Given the description of an element on the screen output the (x, y) to click on. 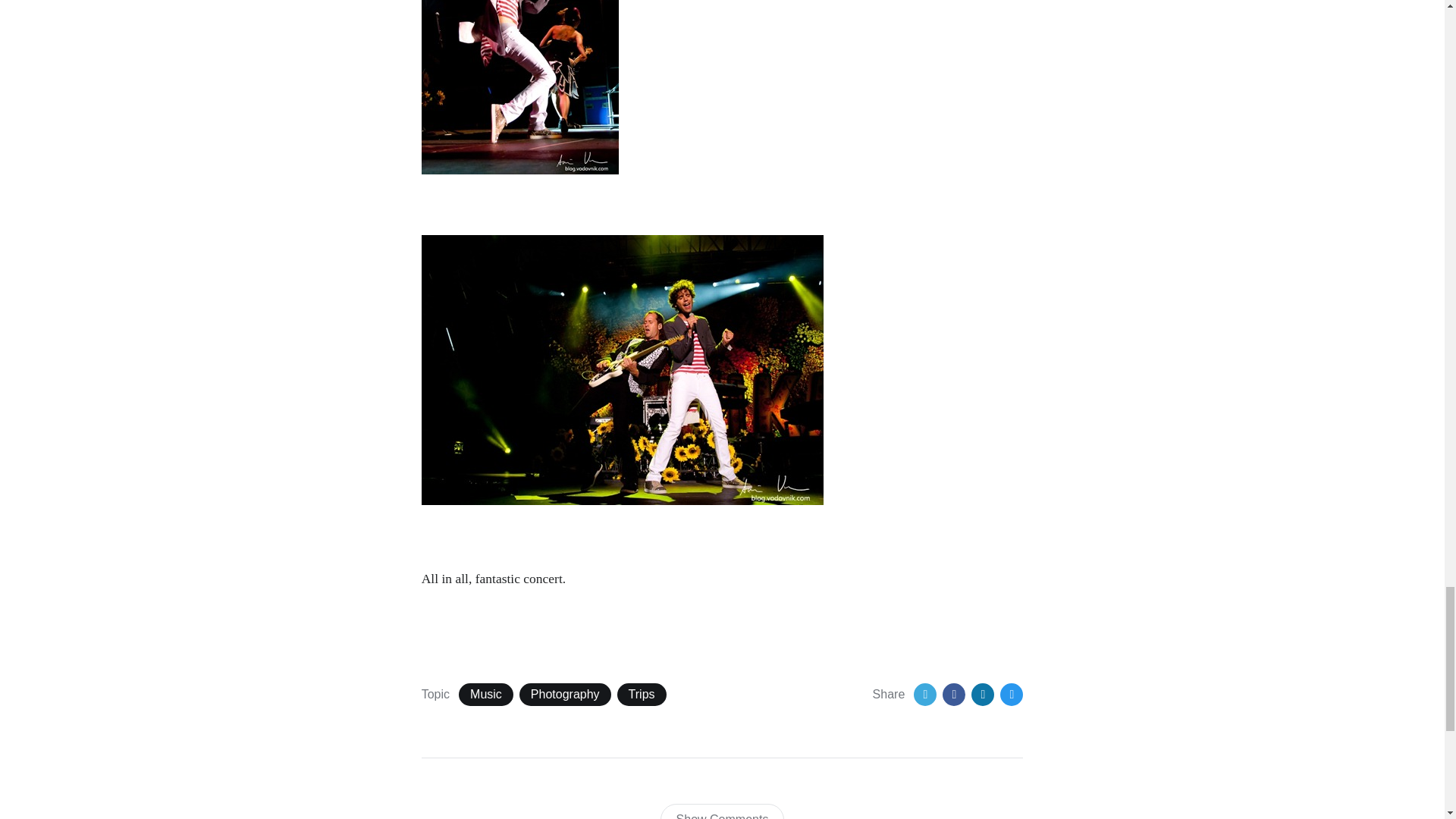
Music (485, 694)
Trips (641, 694)
Facebook (953, 694)
Twitter (925, 694)
Show Comments (722, 811)
Photography (565, 694)
LinkedIn (982, 694)
Email (1011, 694)
